Given the description of an element on the screen output the (x, y) to click on. 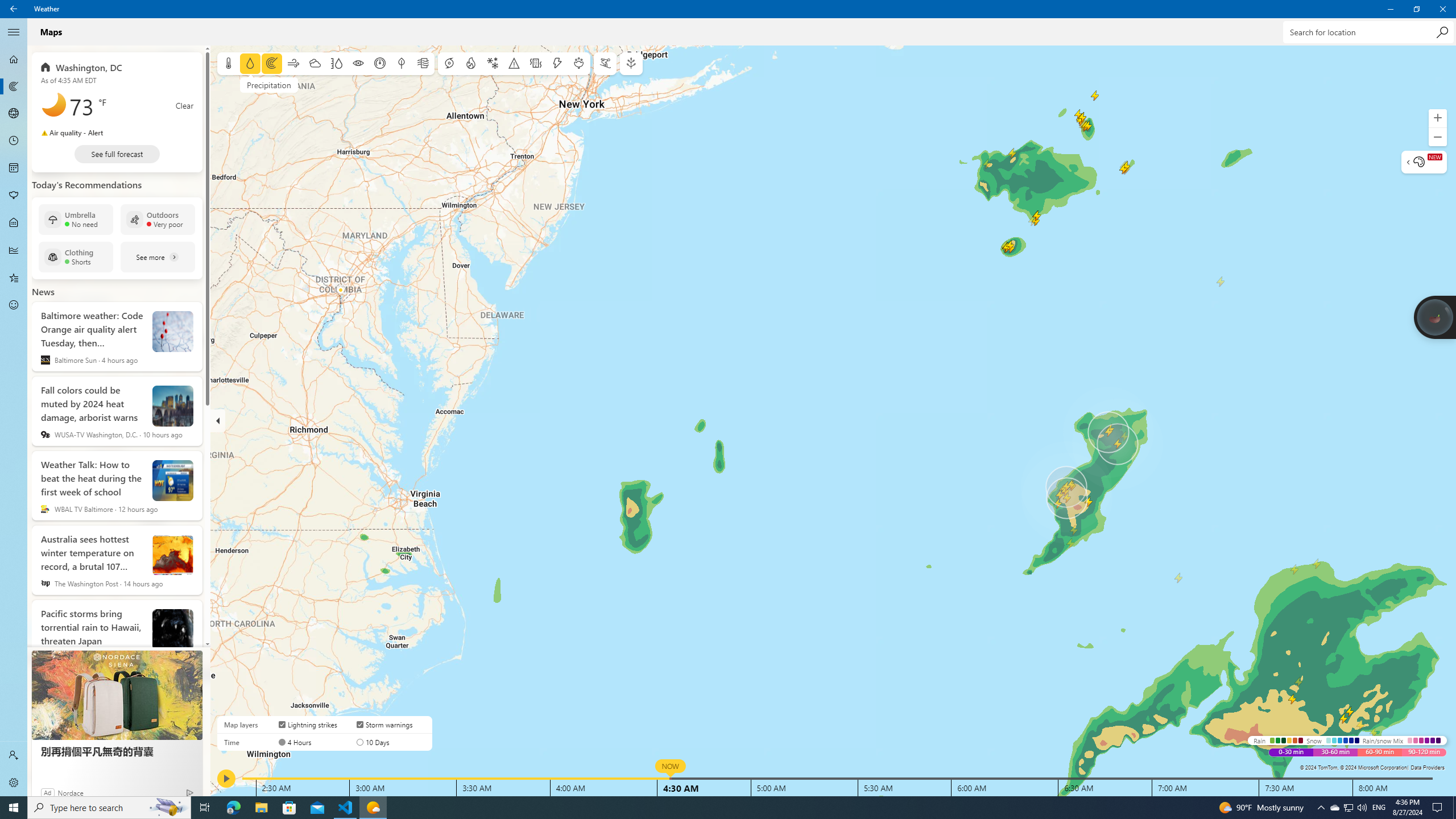
Pollen - Not Selected (13, 195)
Settings (13, 782)
Search highlights icon opens search home window (1333, 807)
Search (167, 807)
Action Center, No new notifications (1442, 31)
Running applications (1439, 807)
Favorites - Not Selected (706, 807)
Hourly Forecast - Not Selected (13, 277)
Notification Chevron (13, 140)
Maps - Not Selected (1320, 807)
Task View (13, 85)
Weather - 1 running window (204, 807)
File Explorer (373, 807)
